Given the description of an element on the screen output the (x, y) to click on. 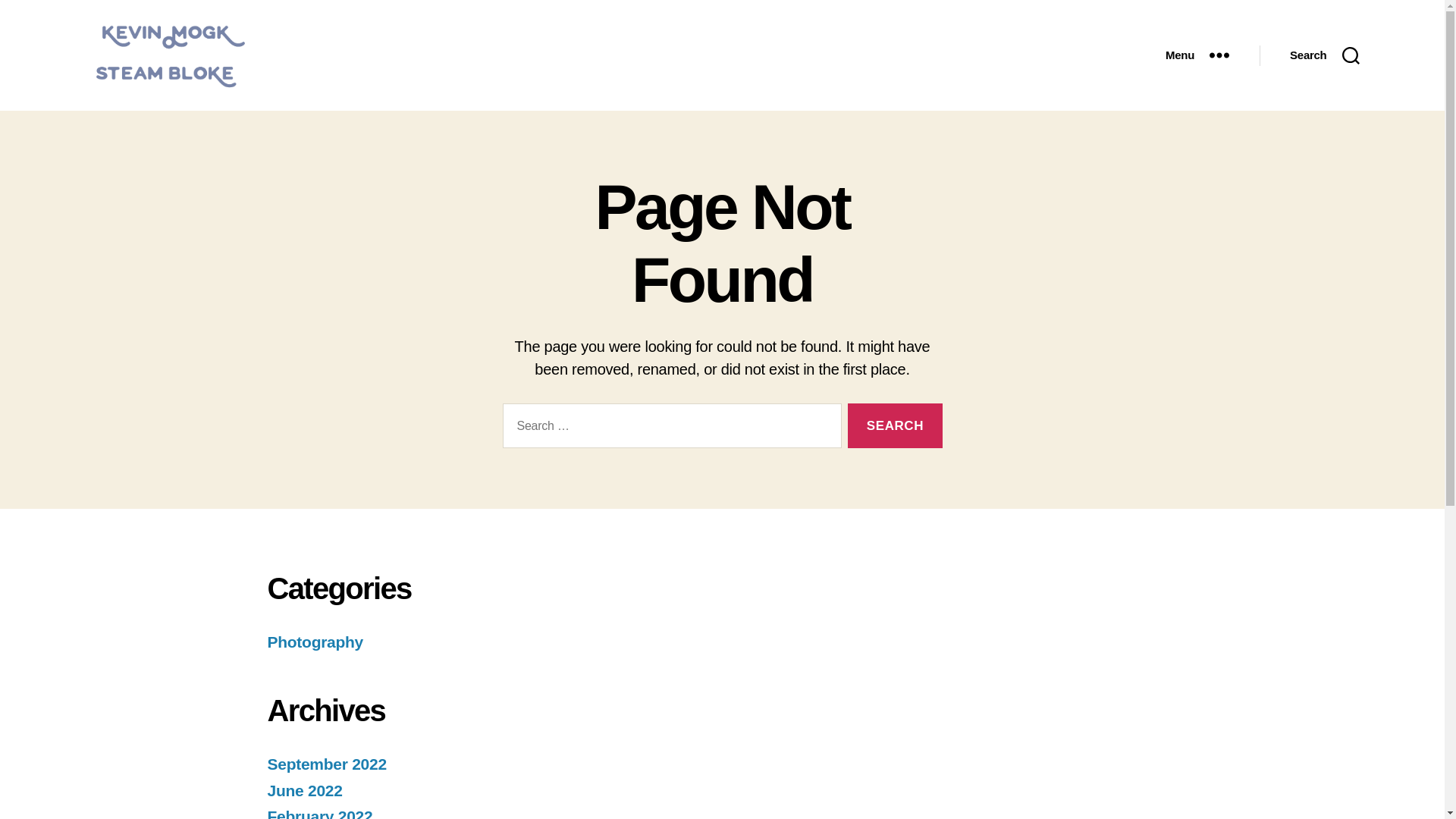
Search (1324, 55)
Menu (1197, 55)
Photography (314, 641)
Search (894, 425)
Search (894, 425)
June 2022 (304, 790)
Search (894, 425)
September 2022 (325, 764)
February 2022 (319, 813)
